Given the description of an element on the screen output the (x, y) to click on. 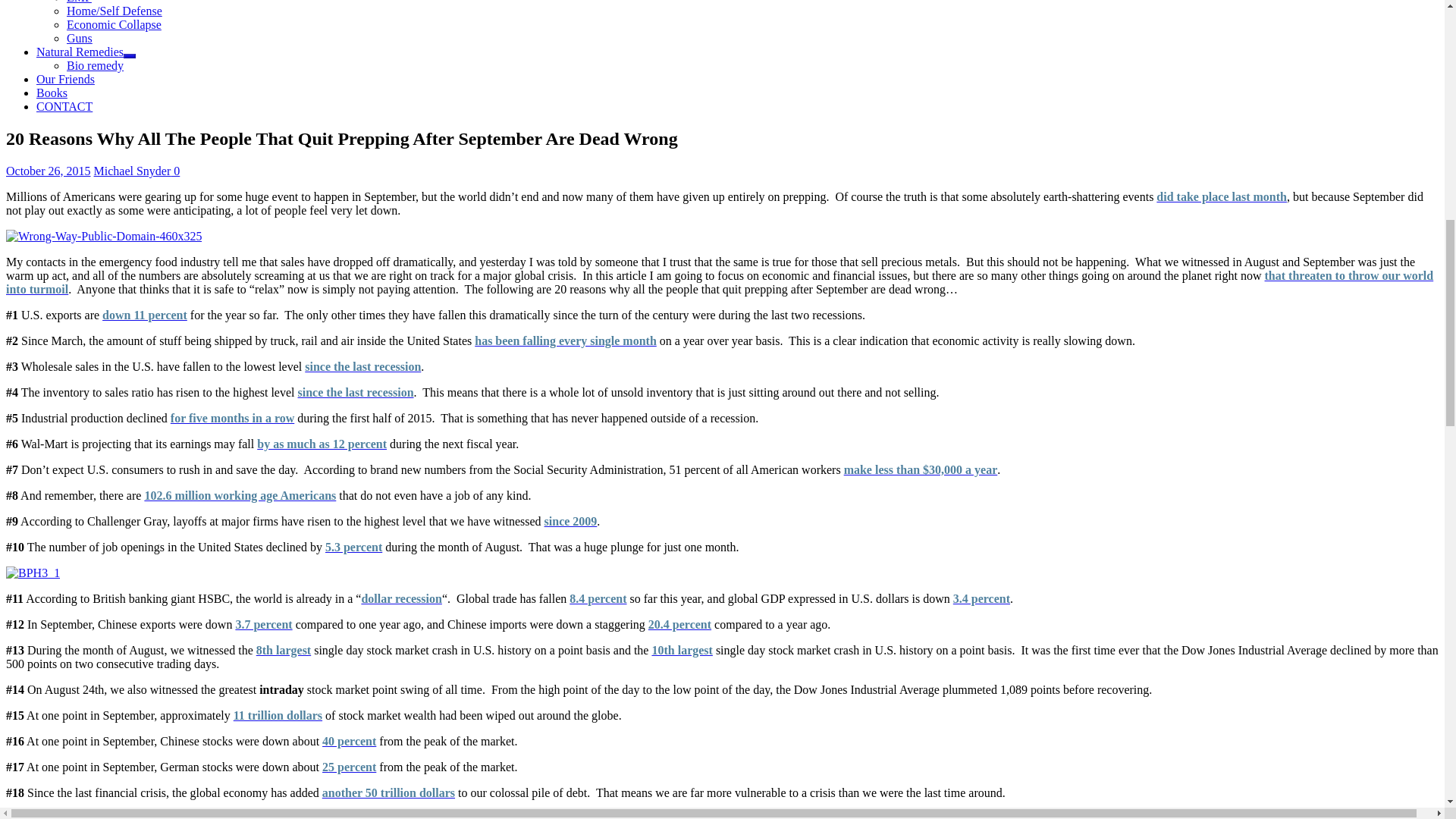
since the last recession (355, 391)
dollar recession (401, 598)
by as much as 12 percent (322, 443)
for five months in a row (232, 418)
did take place last month (1221, 196)
has been falling every single month (565, 340)
since 2009 (570, 521)
5.3 percent (352, 546)
since the last recession (362, 366)
down 11 percent (144, 314)
102.6 million working age Americans (240, 495)
that threaten to throw our world into turmoil (718, 282)
